Given the description of an element on the screen output the (x, y) to click on. 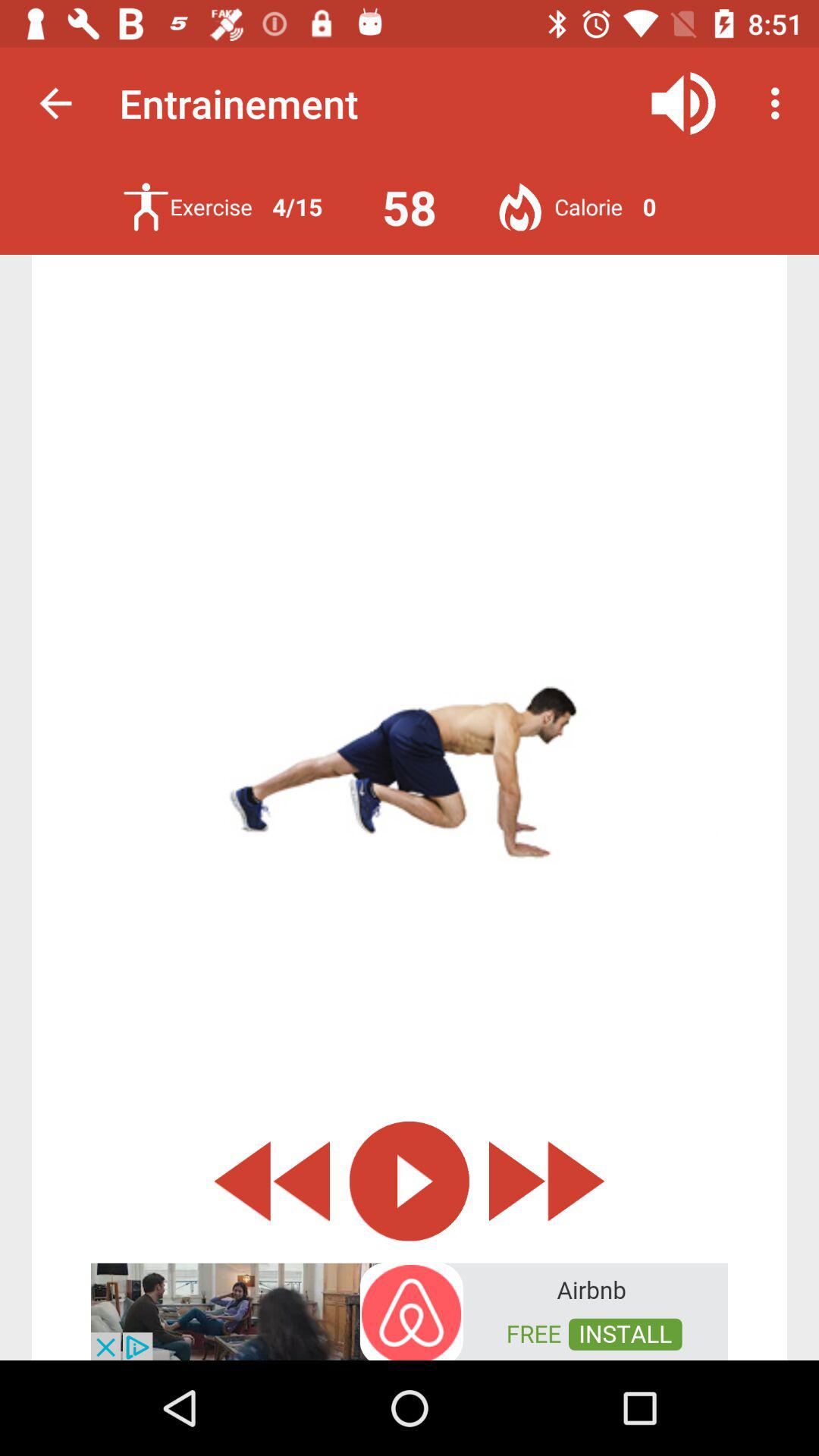
start (409, 1181)
